Given the description of an element on the screen output the (x, y) to click on. 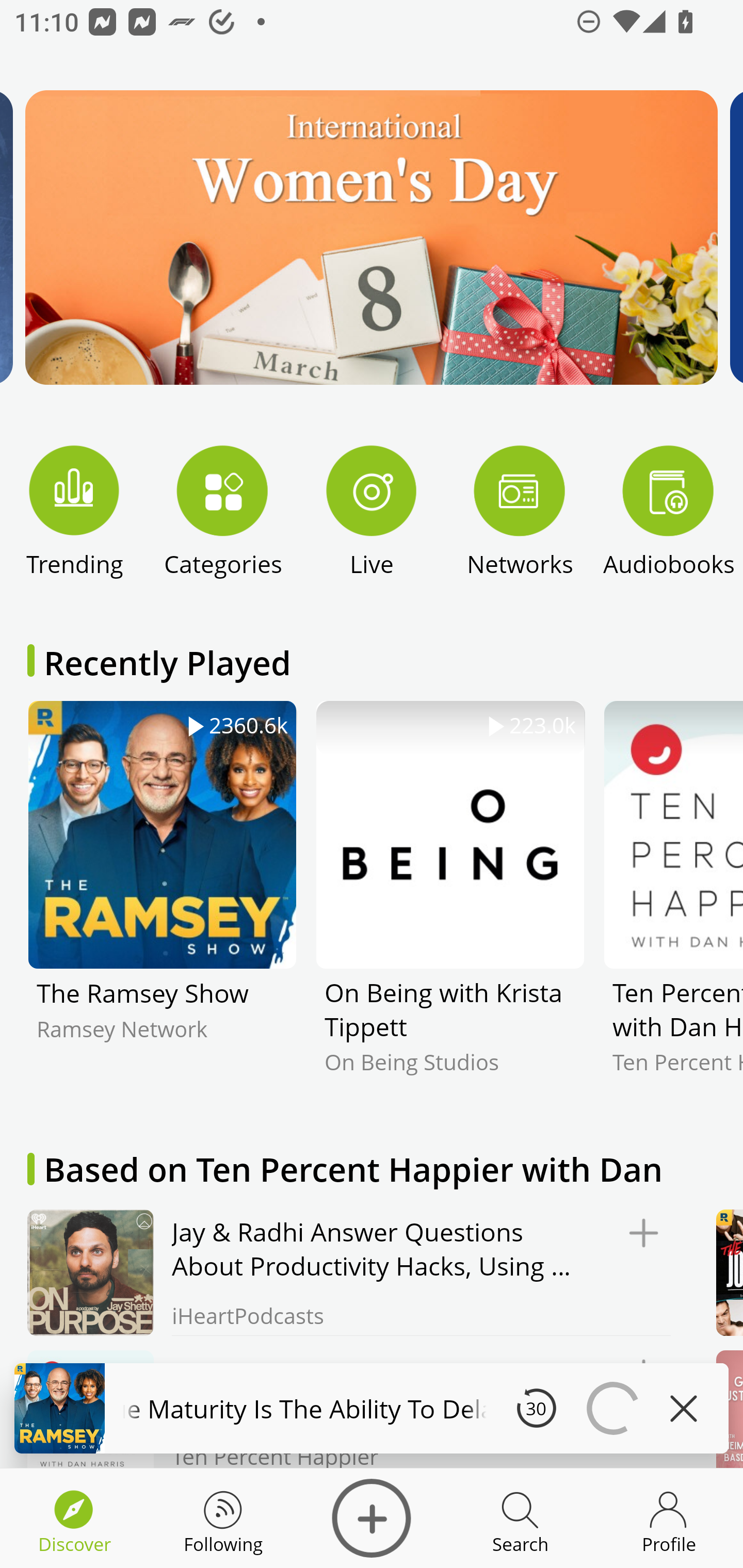
2360.6k The Ramsey Show Ramsey Network (162, 902)
30 Seek Backward (536, 1407)
Discover Following (222, 1518)
Discover (371, 1518)
Discover Search (519, 1518)
Discover Profile (668, 1518)
